Given the description of an element on the screen output the (x, y) to click on. 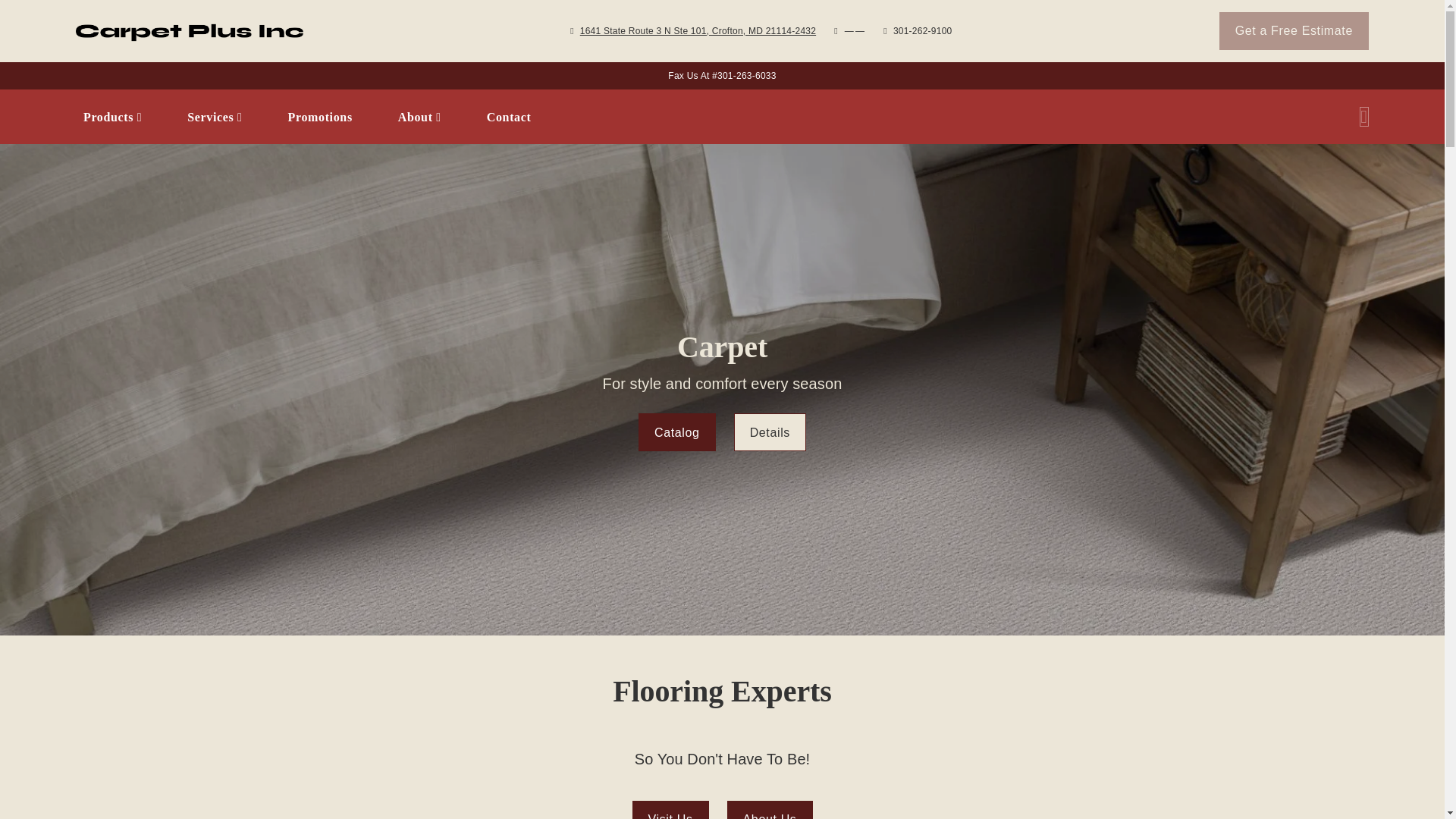
1641 State Route 3 N Ste 101, Crofton, MD 21114-2432 (678, 116)
Get a Free Estimate (697, 30)
301-262-9100 (1294, 30)
Products (922, 30)
Services (678, 116)
